Given the description of an element on the screen output the (x, y) to click on. 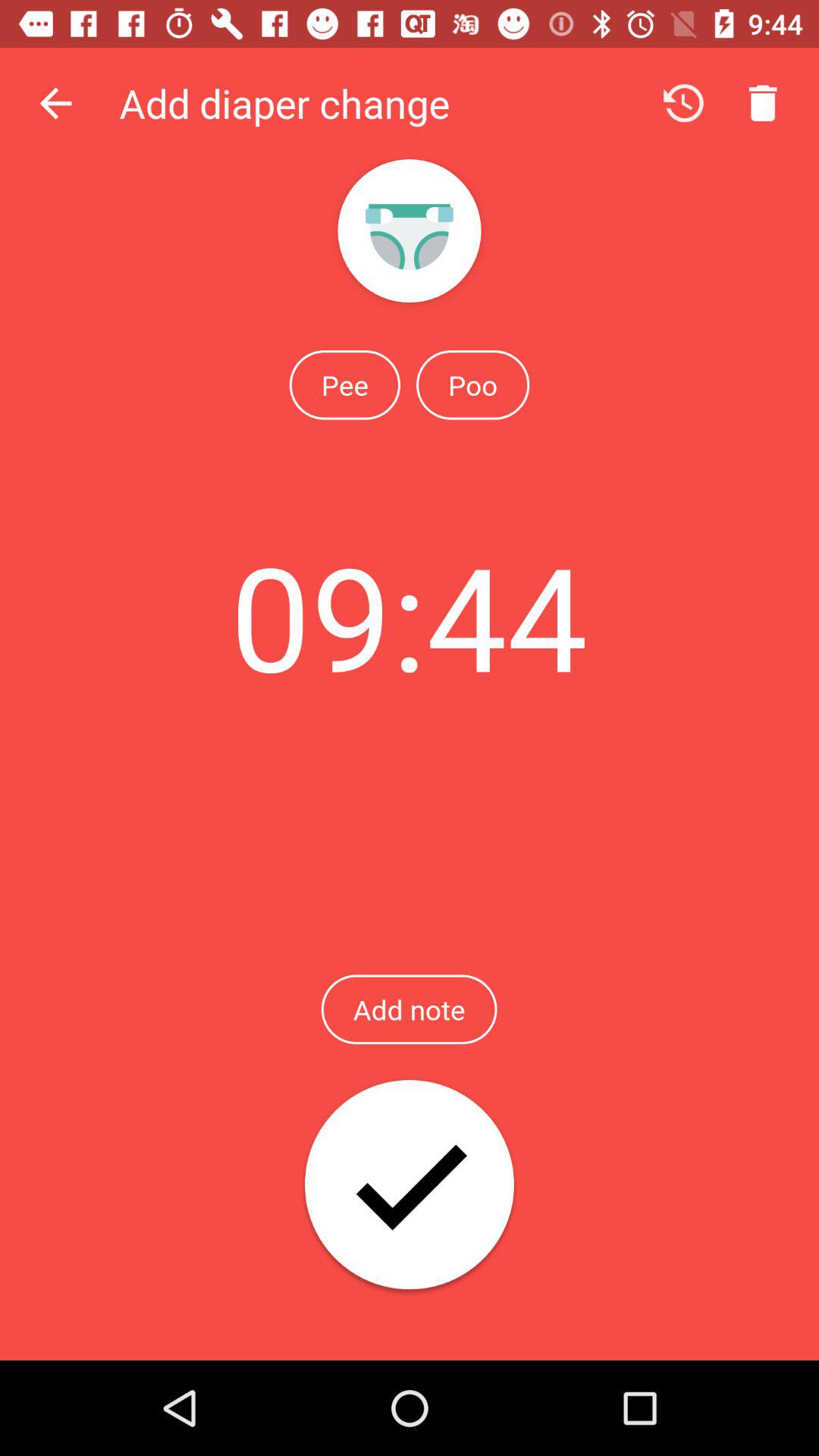
select the icon at the top left corner (55, 103)
